Given the description of an element on the screen output the (x, y) to click on. 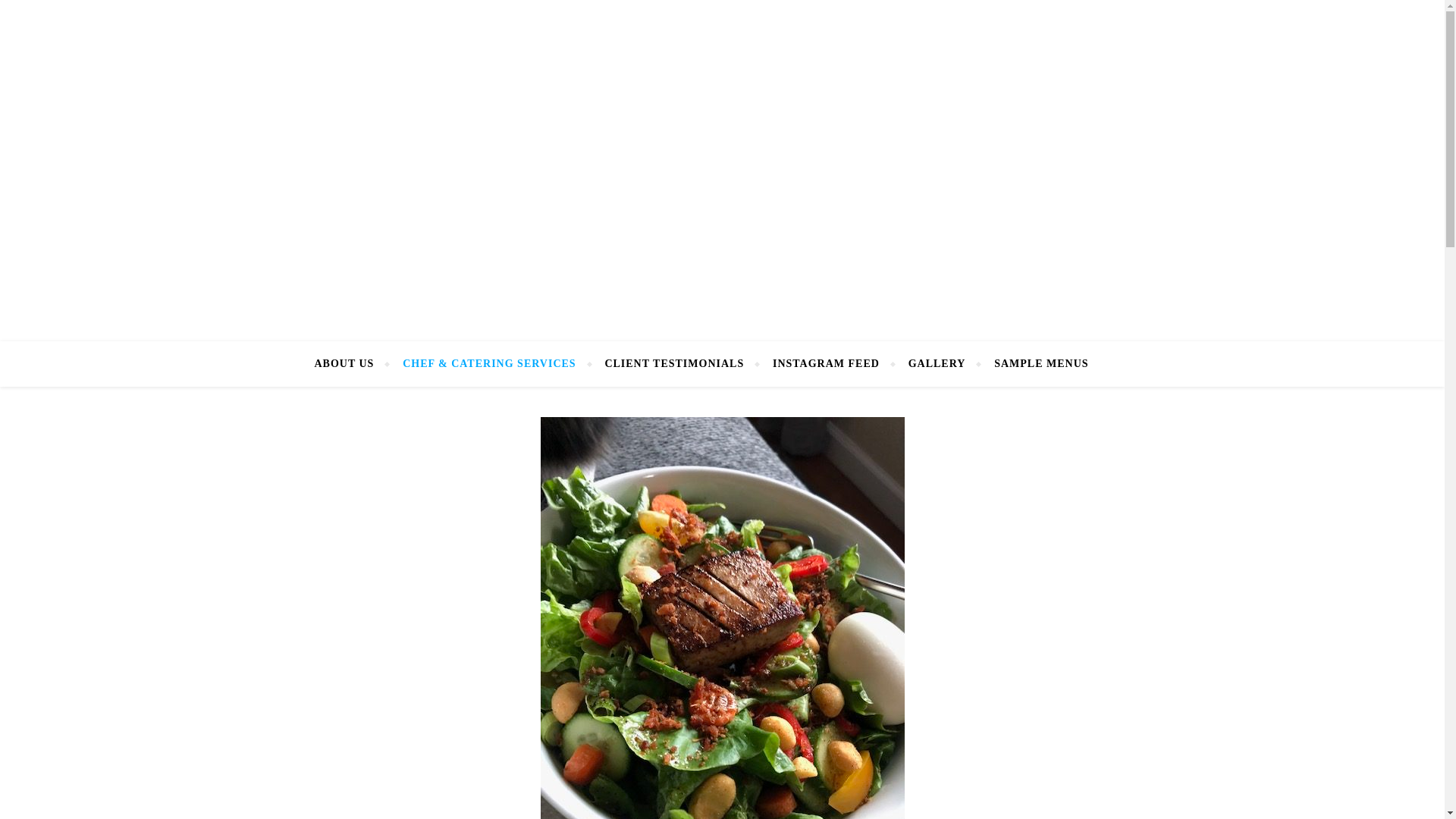
ABOUT US (350, 363)
GALLERY (936, 363)
SAMPLE MENUS (1034, 363)
CLIENT TESTIMONIALS (674, 363)
INSTAGRAM FEED (826, 363)
